Given the description of an element on the screen output the (x, y) to click on. 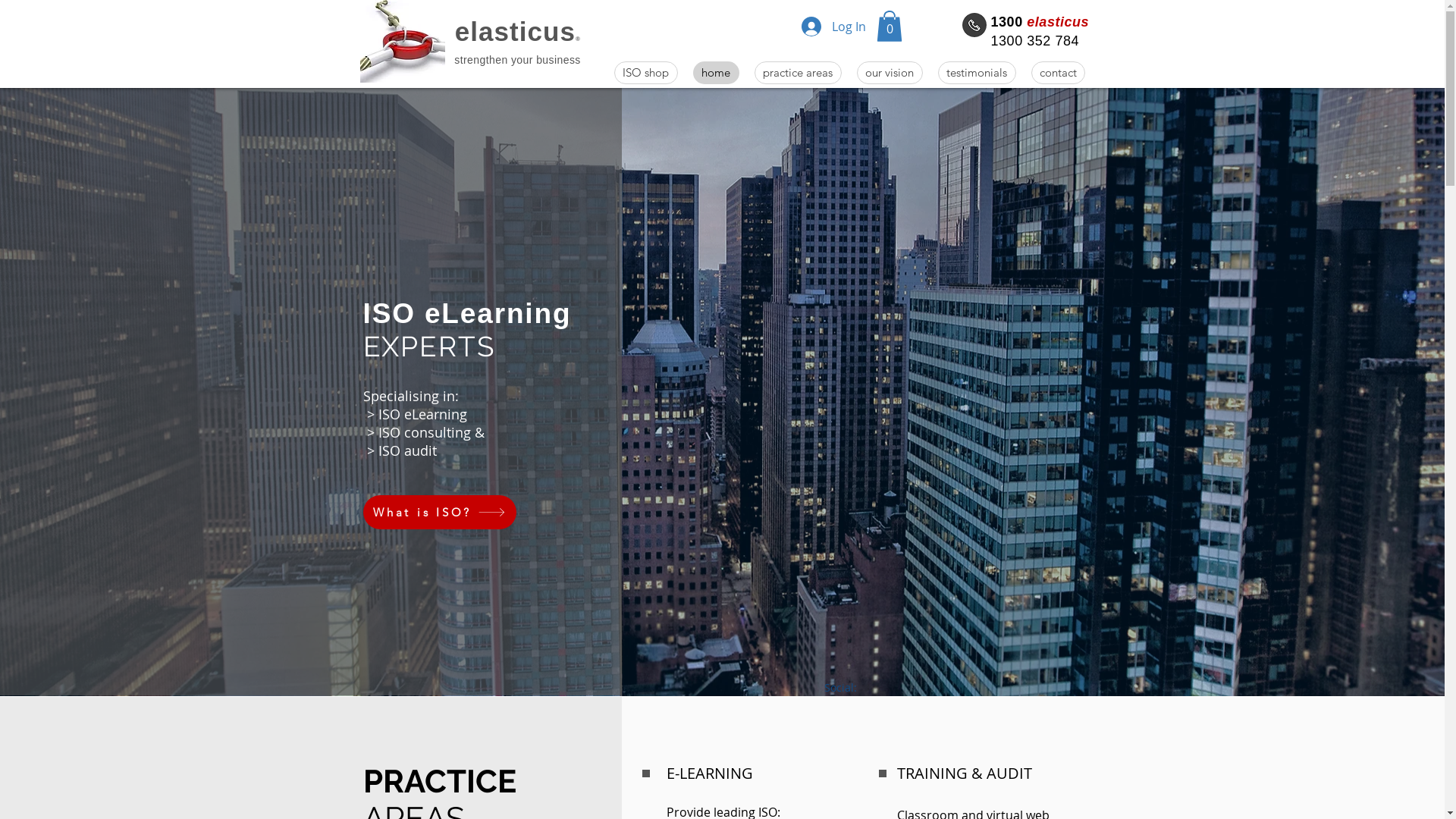
practice areas Element type: text (796, 72)
1300 352 784  Element type: text (1036, 40)
elasticus Element type: text (515, 31)
1300 352 784 Element type: hover (973, 24)
testimonials Element type: text (976, 72)
What is ISO? Element type: text (438, 512)
contact Element type: text (1058, 72)
Log In Element type: text (832, 26)
our vision Element type: text (889, 72)
1300 elasticus Element type: text (1039, 21)
ISO shop Element type: text (645, 72)
0 Element type: text (889, 25)
home Element type: text (716, 72)
